Given the description of an element on the screen output the (x, y) to click on. 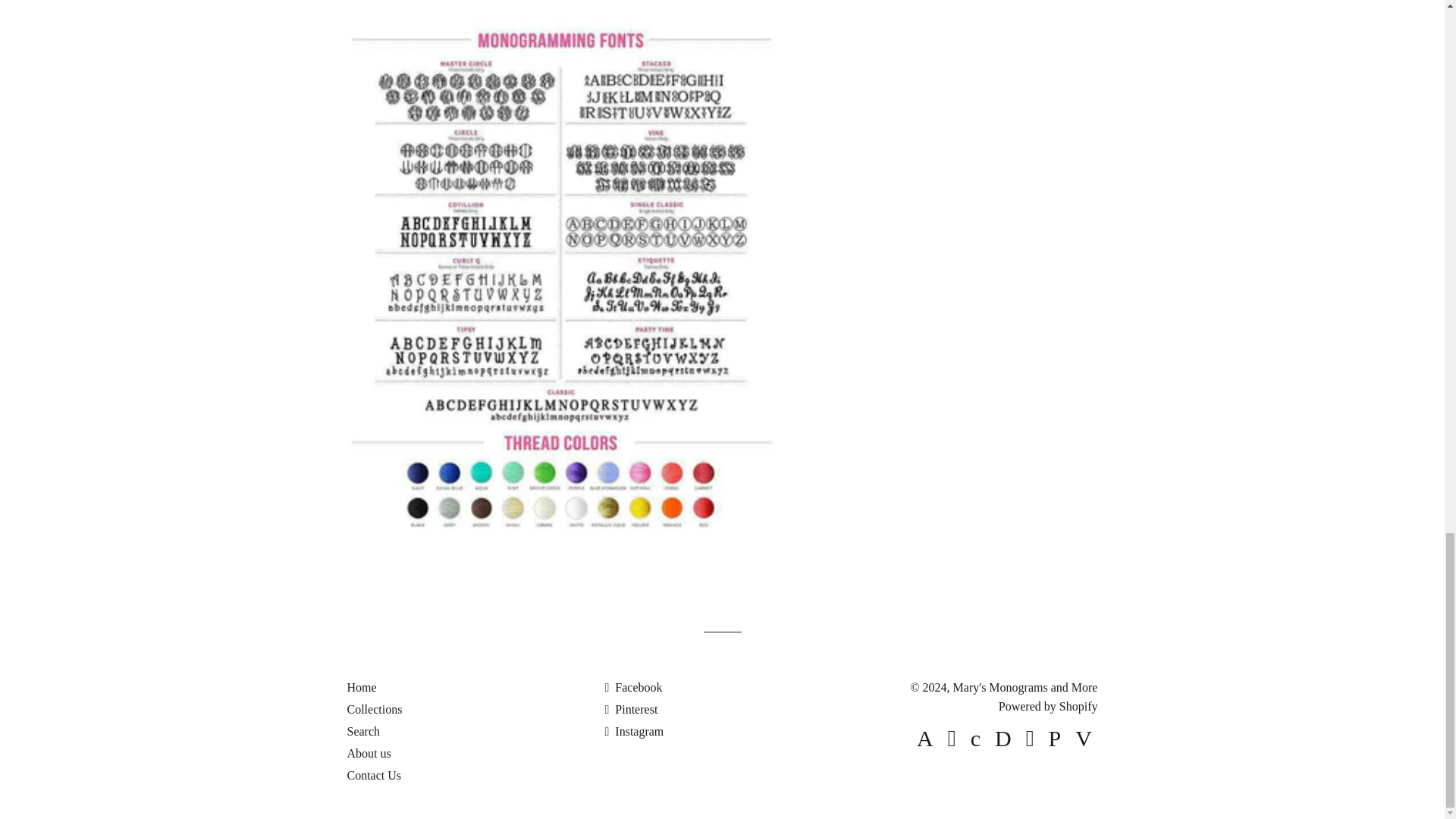
About us (369, 753)
Search (363, 730)
Home (362, 686)
Contact Us (374, 775)
Mary's Monograms and More on Facebook (633, 686)
Instagram (633, 730)
Powered by Shopify (1047, 706)
Pinterest (631, 708)
Mary's Monograms and More on Pinterest (631, 708)
Facebook (633, 686)
Collections (375, 708)
Mary's Monograms and More on Instagram (633, 730)
Mary's Monograms and More (1025, 686)
